Given the description of an element on the screen output the (x, y) to click on. 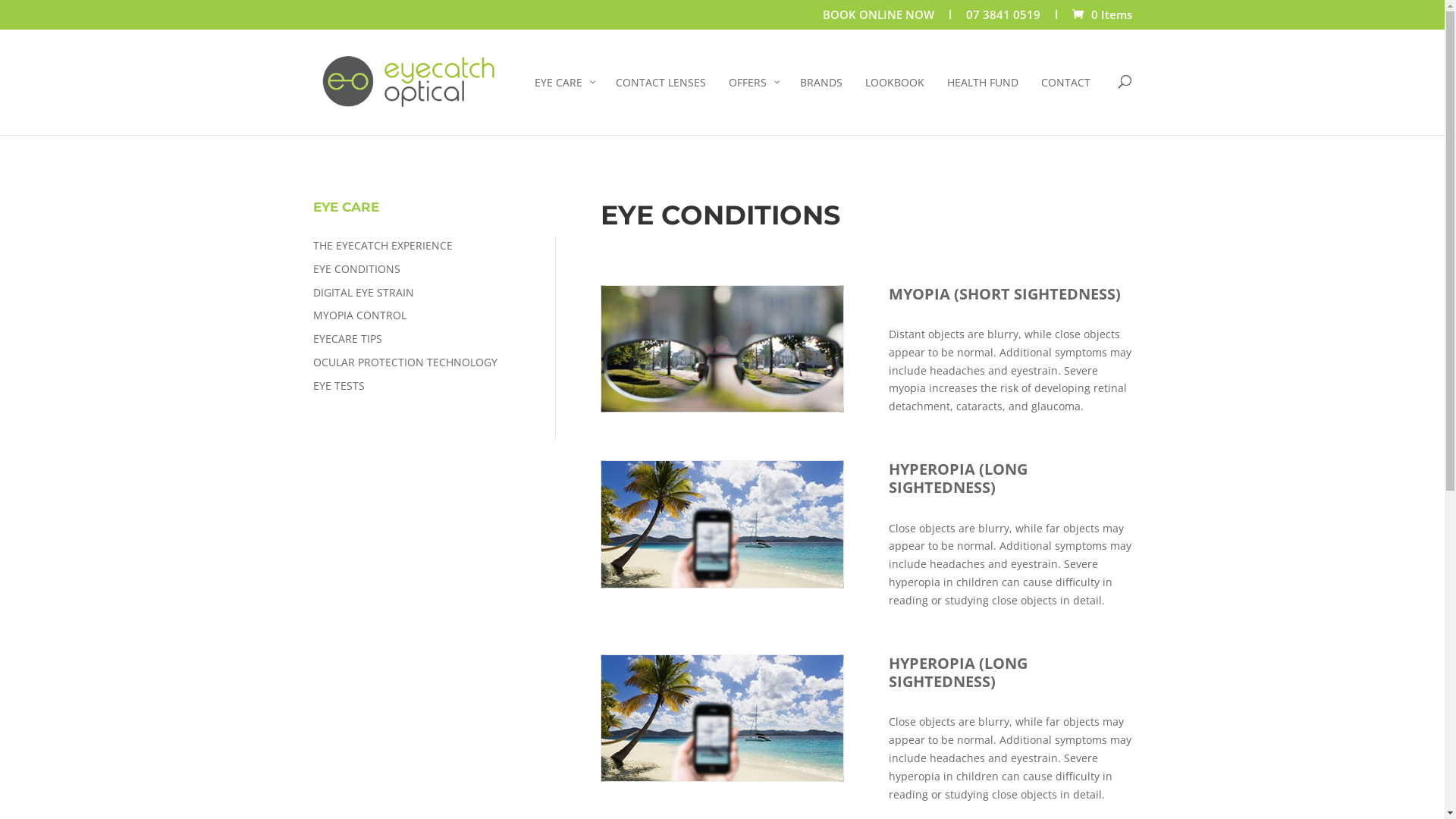
EYECARE TIPS Element type: text (346, 338)
BRANDS Element type: text (820, 104)
BOOK ONLINE NOW Element type: text (877, 18)
LOOKBOOK Element type: text (894, 104)
DIGITAL EYE STRAIN Element type: text (362, 292)
CONTACT Element type: text (1065, 104)
l Element type: text (948, 18)
EYE CONDITIONS Element type: text (355, 268)
0 Items Element type: text (1100, 13)
CONTACT LENSES Element type: text (659, 104)
OCULAR PROTECTION TECHNOLOGY Element type: text (404, 361)
07 3841 0519 Element type: text (1003, 18)
l Element type: text (1055, 18)
EYE TESTS Element type: text (338, 385)
THE EYECATCH EXPERIENCE Element type: text (381, 245)
OFFERS Element type: text (752, 104)
MYOPIA CONTROL Element type: text (358, 314)
HEALTH FUND Element type: text (982, 104)
EYE CARE Element type: text (563, 104)
